Given the description of an element on the screen output the (x, y) to click on. 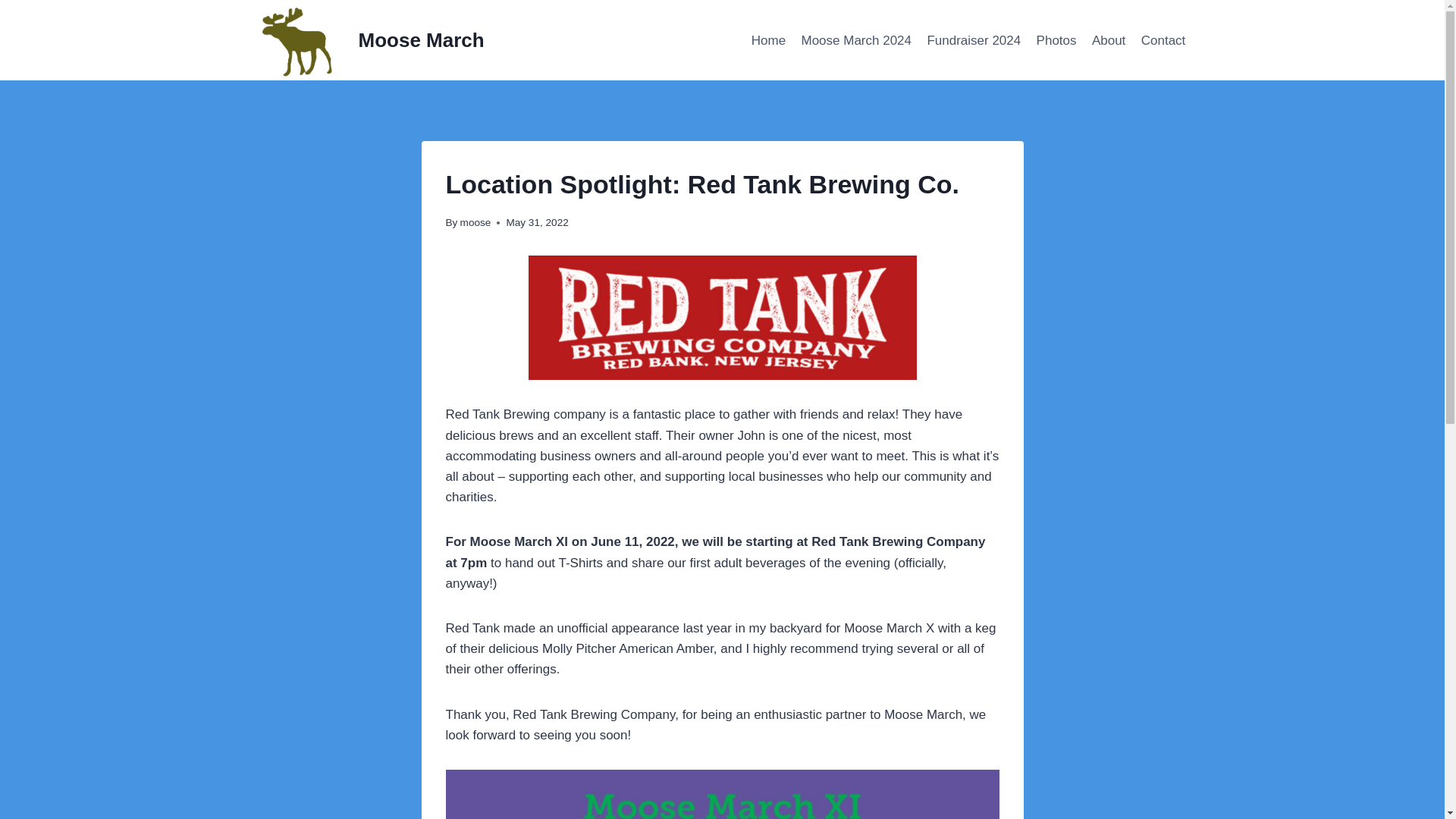
moose (476, 222)
About (1109, 40)
Moose March 2024 (855, 40)
Moose March (367, 40)
Fundraiser 2024 (972, 40)
Photos (1055, 40)
Contact (1163, 40)
Home (768, 40)
